Given the description of an element on the screen output the (x, y) to click on. 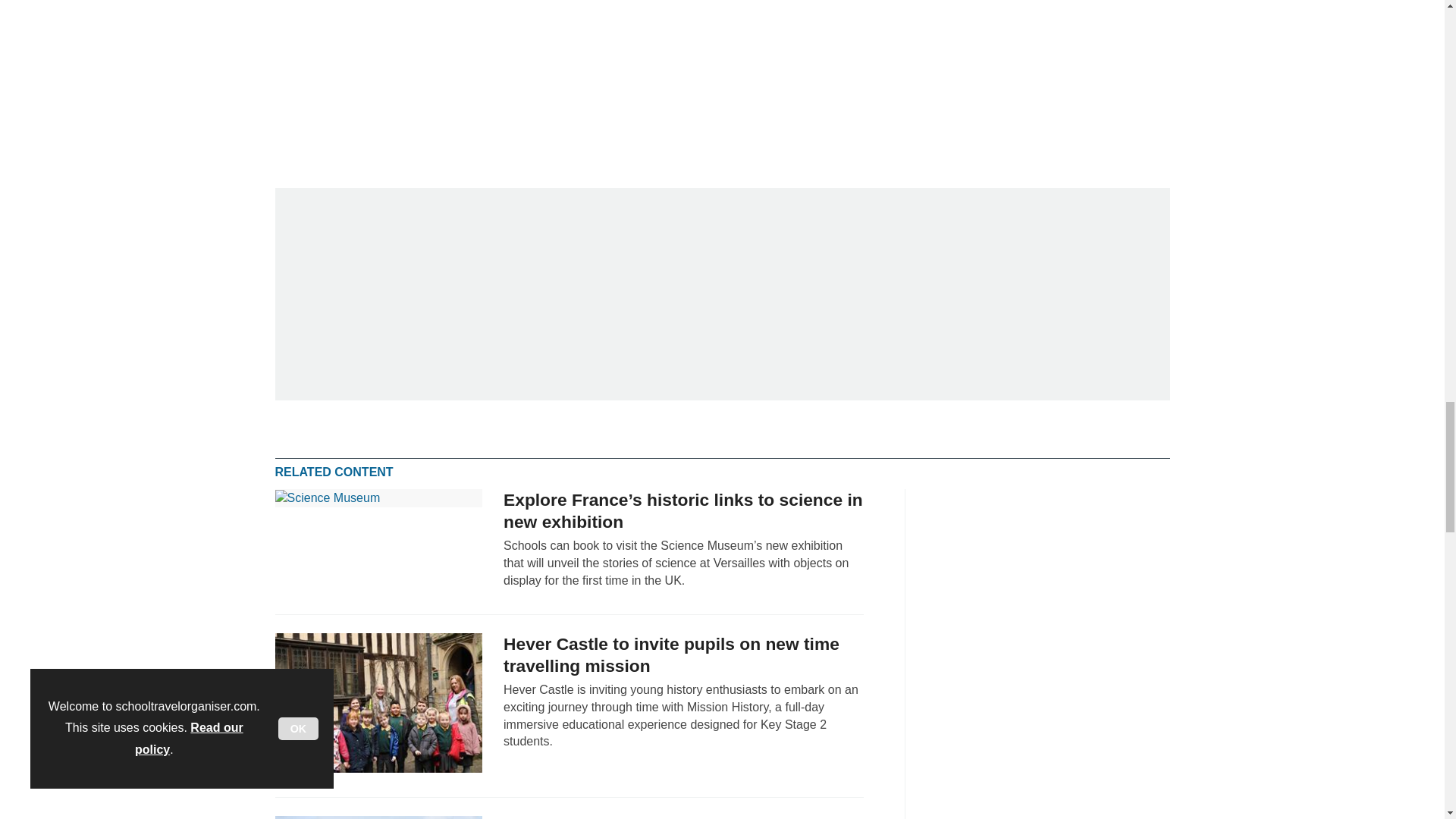
3rd party ad content (1055, 583)
3rd party ad content (1055, 75)
